Given the description of an element on the screen output the (x, y) to click on. 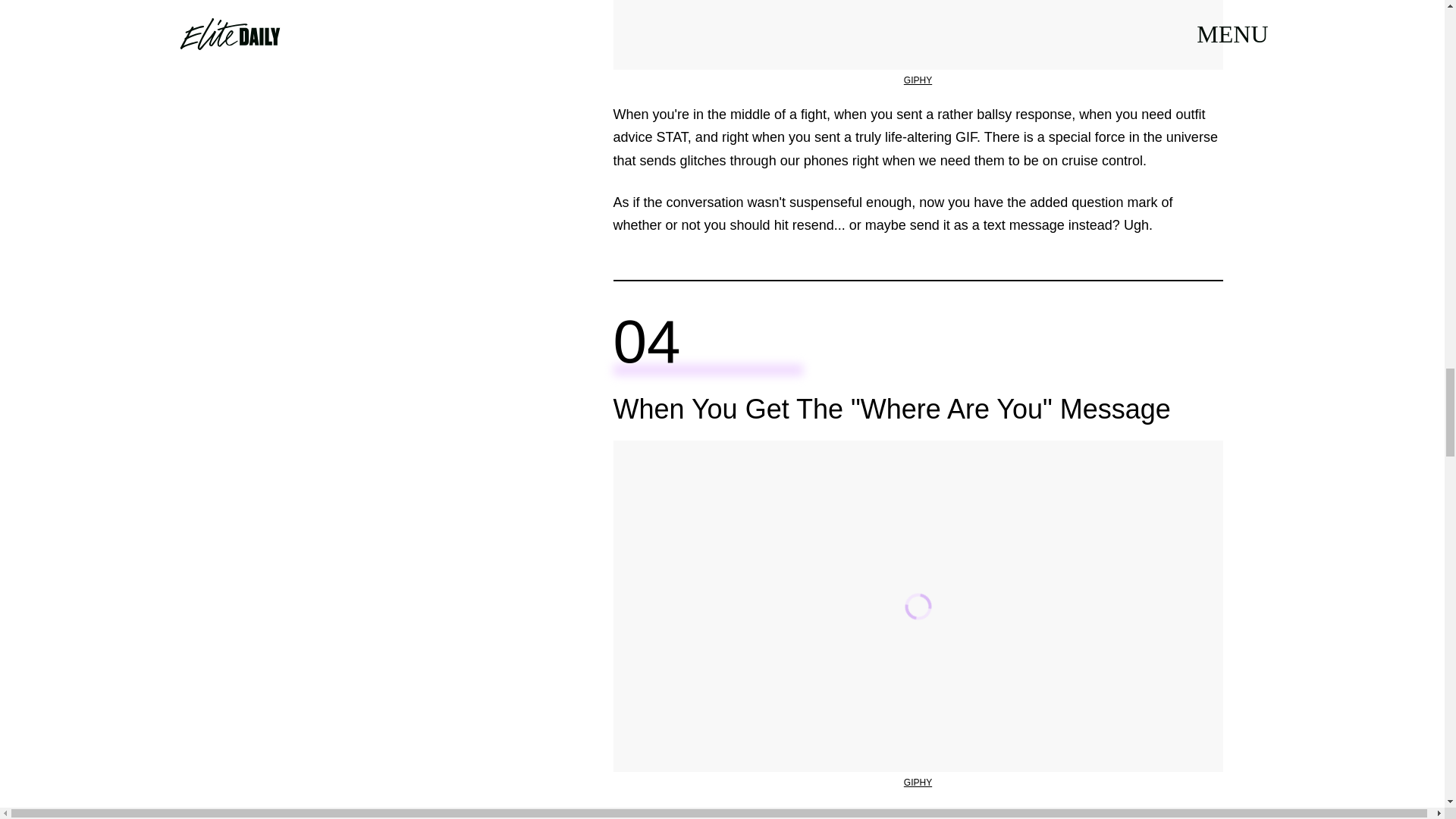
GIPHY (917, 782)
GIPHY (917, 80)
